Given the description of an element on the screen output the (x, y) to click on. 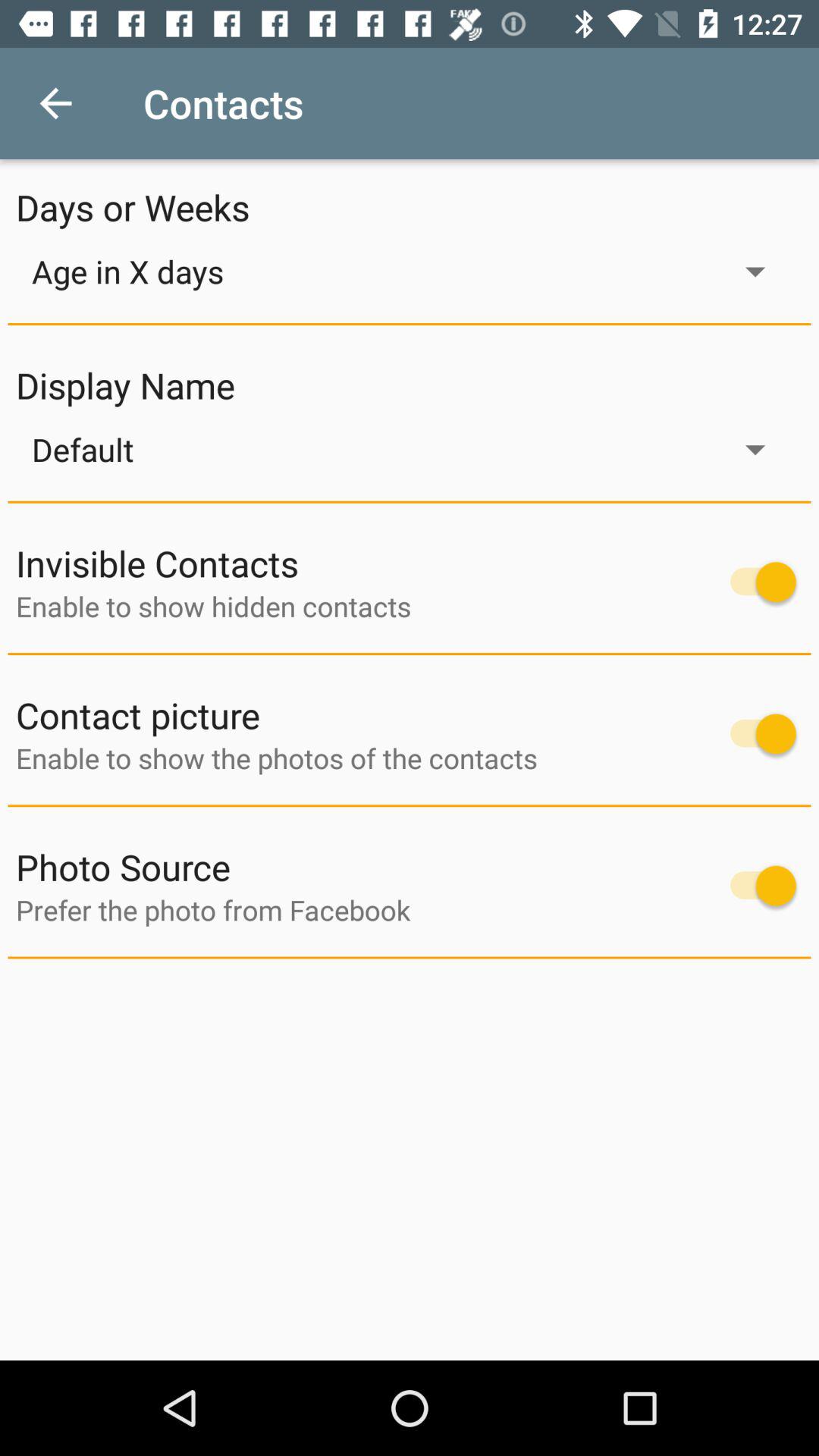
enable contact picture (755, 733)
